Given the description of an element on the screen output the (x, y) to click on. 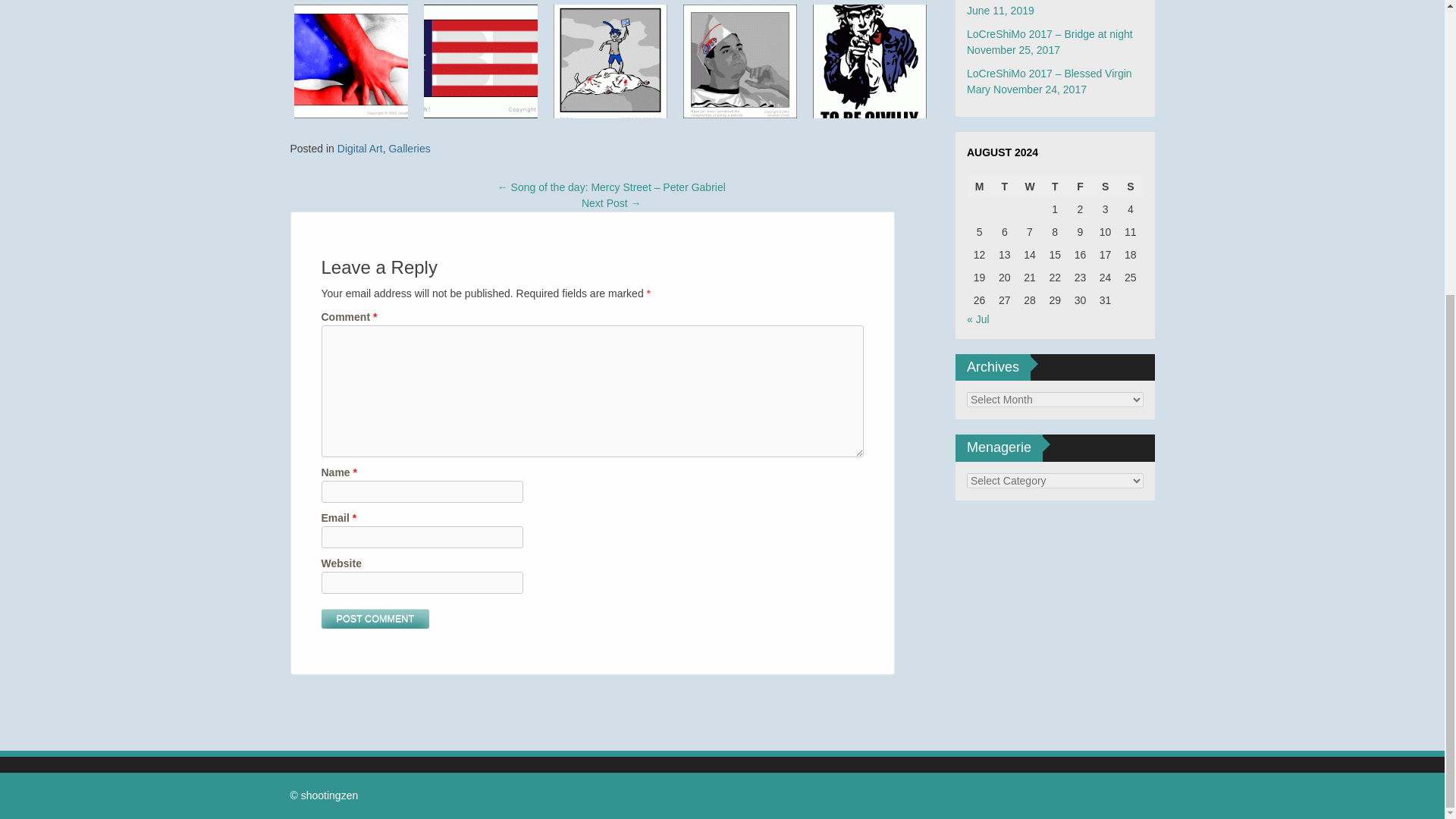
Post Comment (375, 619)
Digital Art (359, 148)
Tuesday (1003, 186)
Monday (978, 186)
Post Comment (375, 619)
Series: America - Uncle Sam Henry (869, 60)
Series: America - King (609, 60)
Wednesday (1029, 186)
Galleries (408, 148)
